Given the description of an element on the screen output the (x, y) to click on. 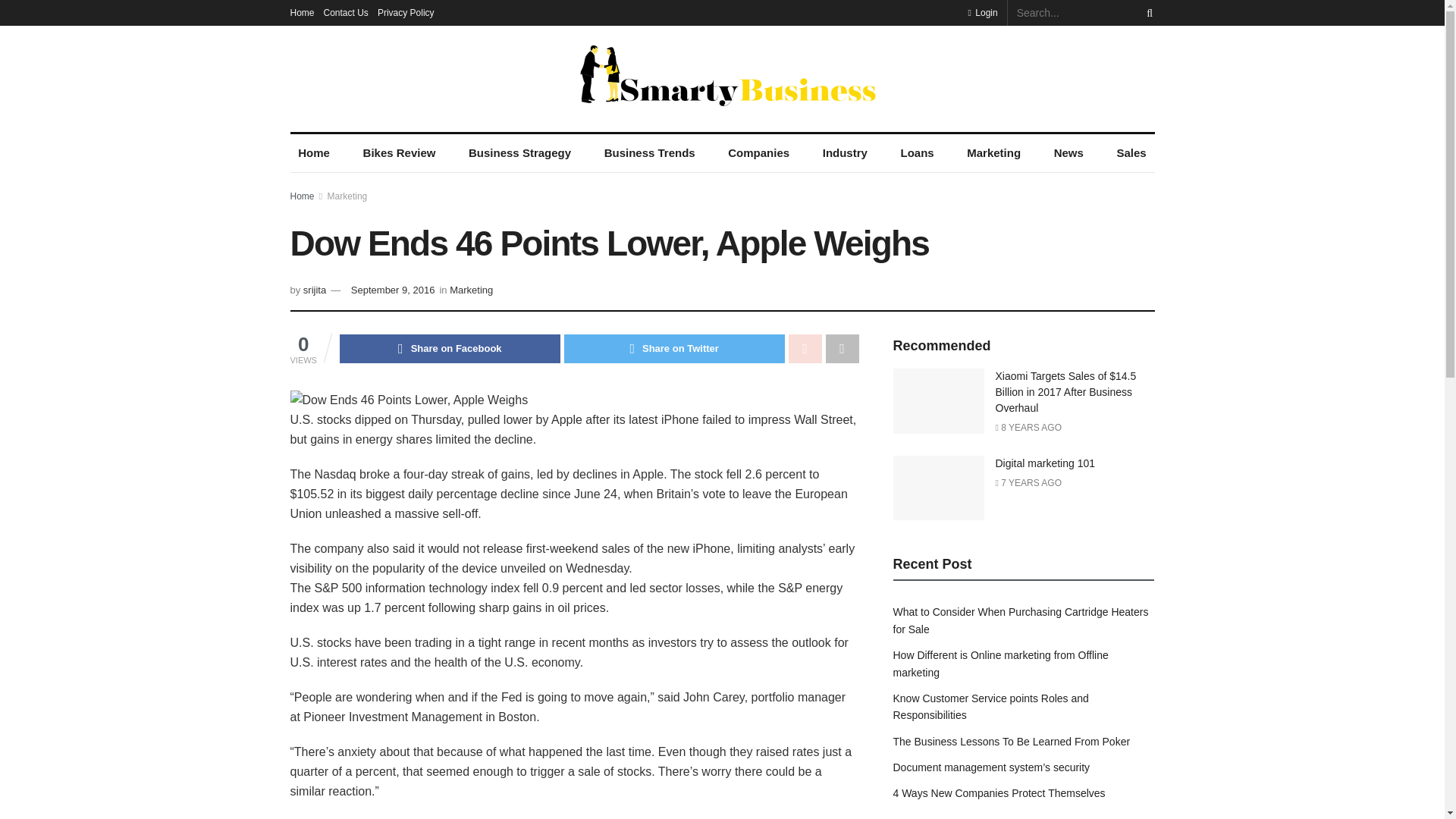
Marketing (992, 152)
Marketing (347, 195)
Home (301, 12)
Marketing (471, 289)
Companies (758, 152)
Bikes Review (399, 152)
News (1068, 152)
September 9, 2016 (392, 289)
Share on Facebook (449, 348)
Privacy Policy (405, 12)
Home (313, 152)
Business Trends (649, 152)
Sales (1131, 152)
Loans (917, 152)
Contact Us (345, 12)
